Given the description of an element on the screen output the (x, y) to click on. 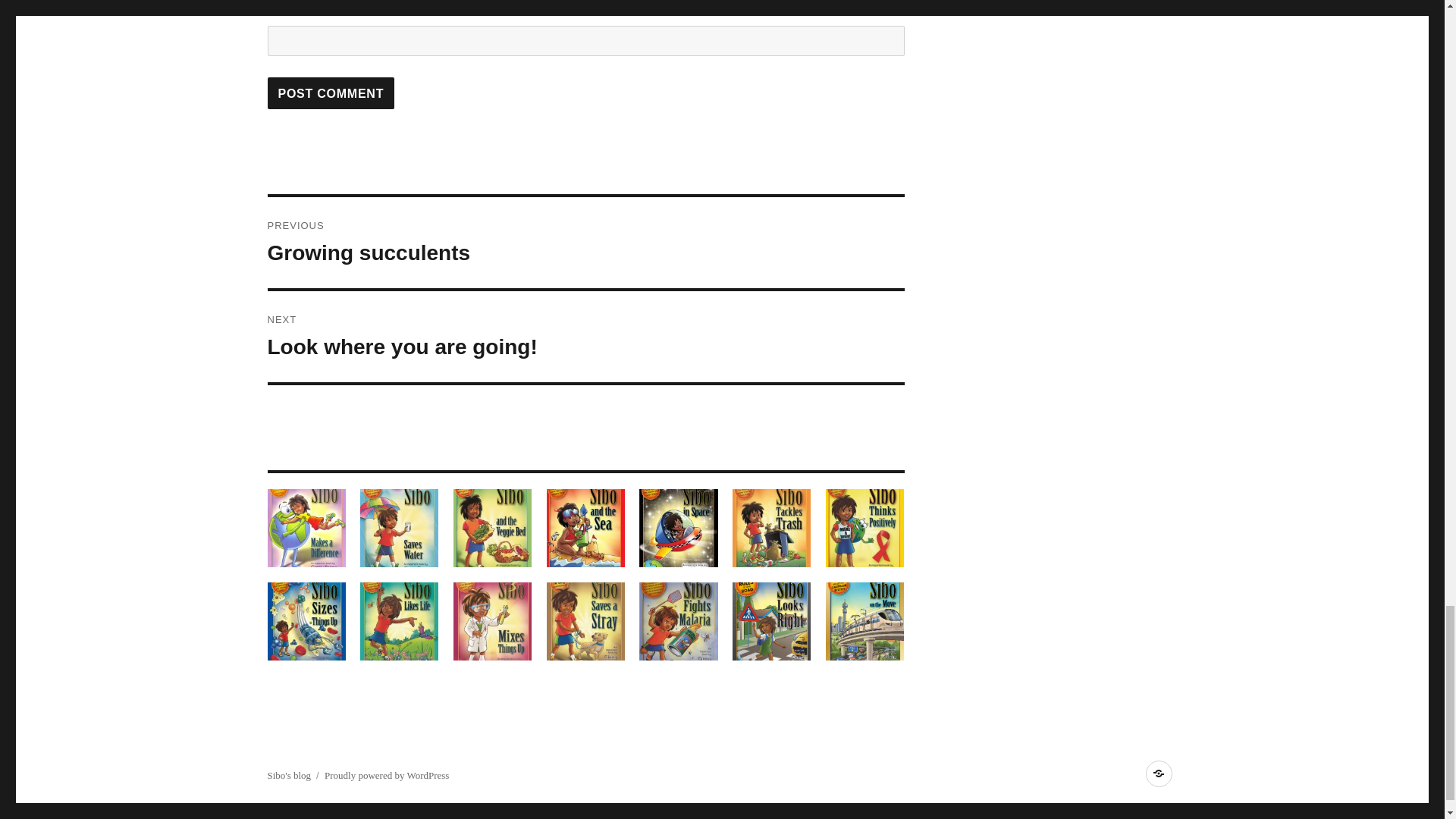
Post Comment (330, 92)
Post Comment (330, 92)
